Given the description of an element on the screen output the (x, y) to click on. 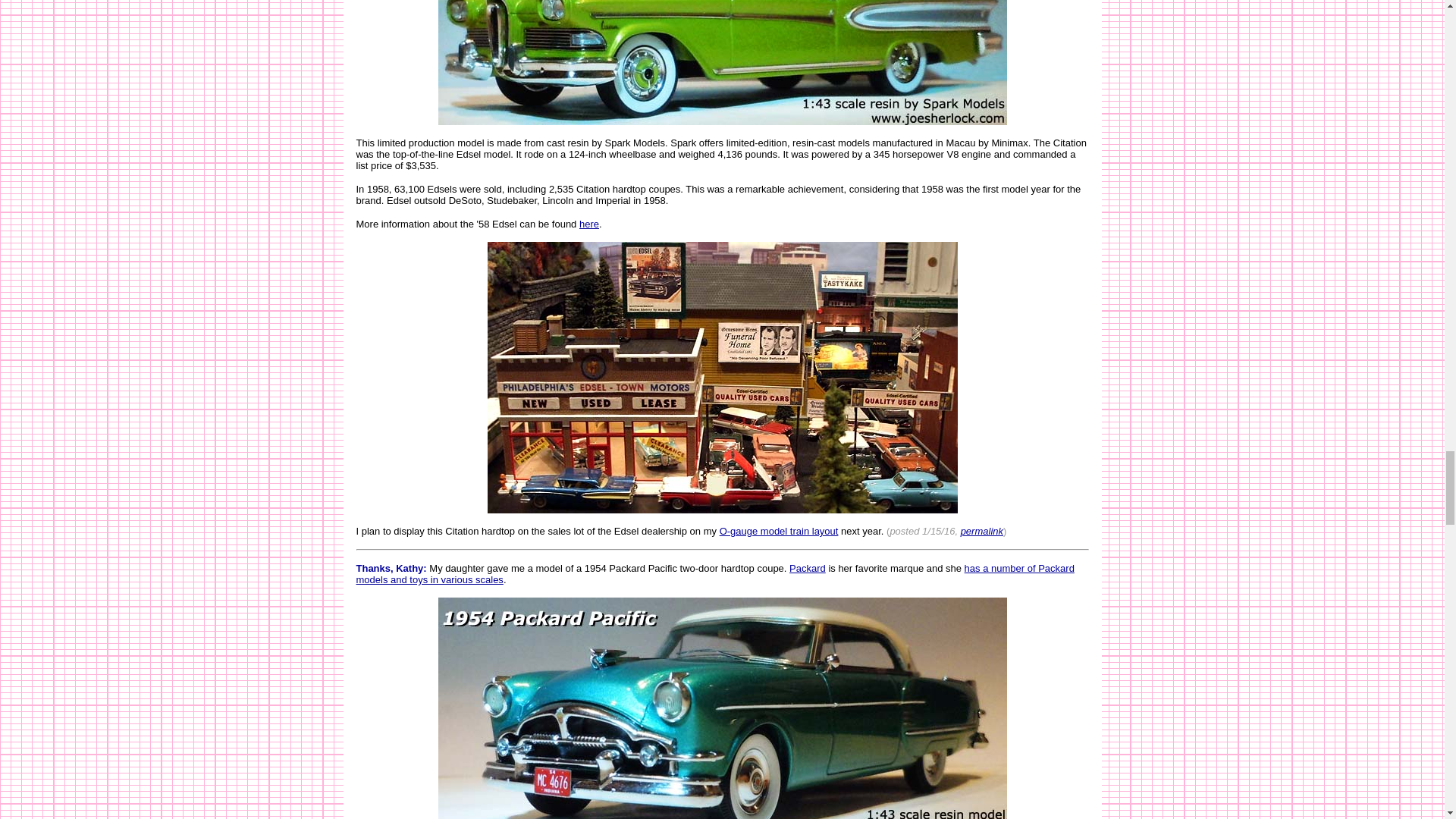
here (588, 224)
Packard (807, 568)
has a number of Packard models and toys in various scales (715, 573)
O-gauge model train layout (778, 531)
permalink (981, 531)
